Given the description of an element on the screen output the (x, y) to click on. 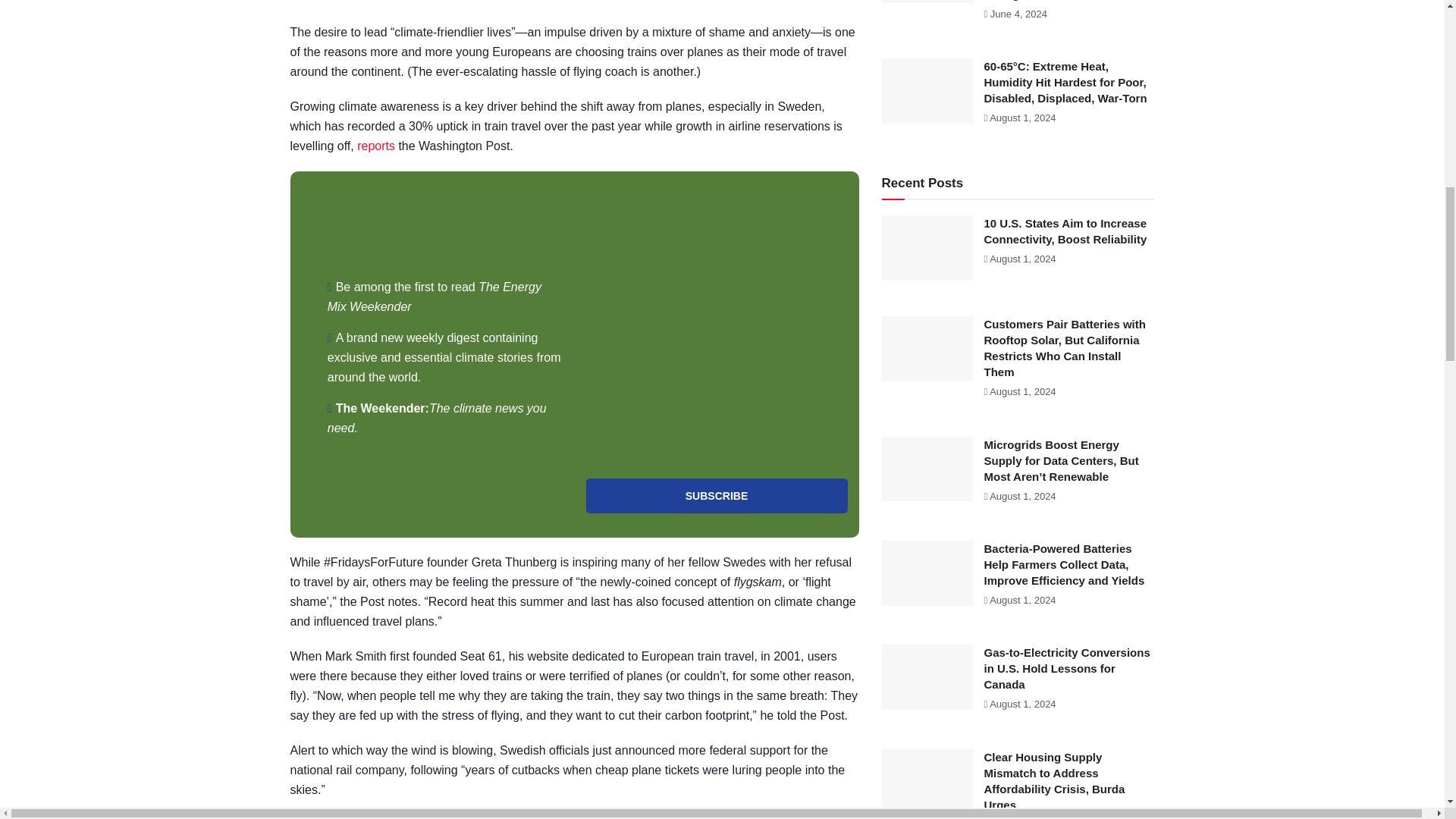
TEM-WeekenderLight (716, 324)
reports (375, 145)
The Energy Mix Weekender (434, 296)
Subscribe (716, 495)
